Given the description of an element on the screen output the (x, y) to click on. 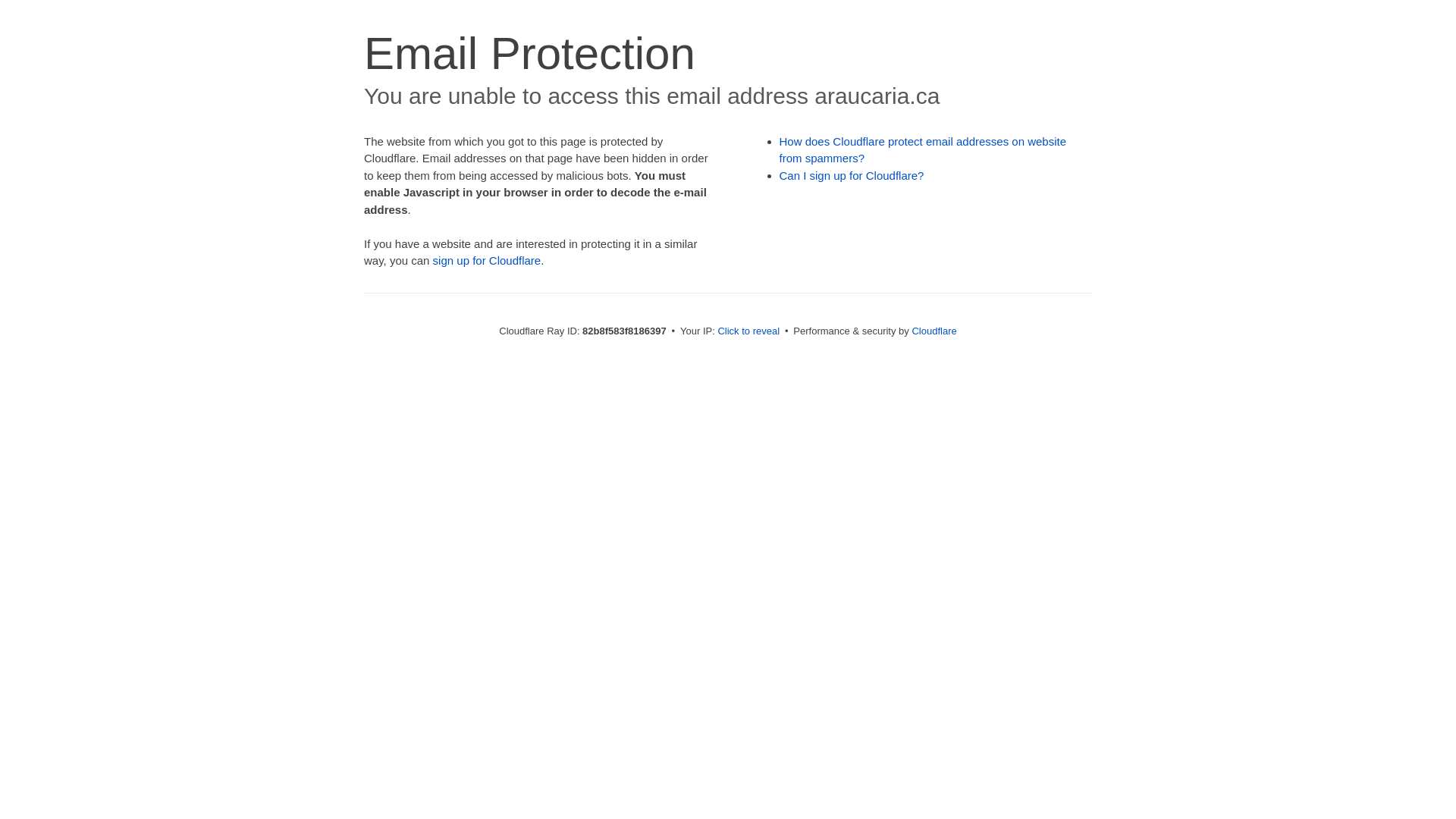
Click to reveal Element type: text (748, 330)
Can I sign up for Cloudflare? Element type: text (851, 175)
Cloudflare Element type: text (933, 330)
sign up for Cloudflare Element type: text (487, 260)
